Given the description of an element on the screen output the (x, y) to click on. 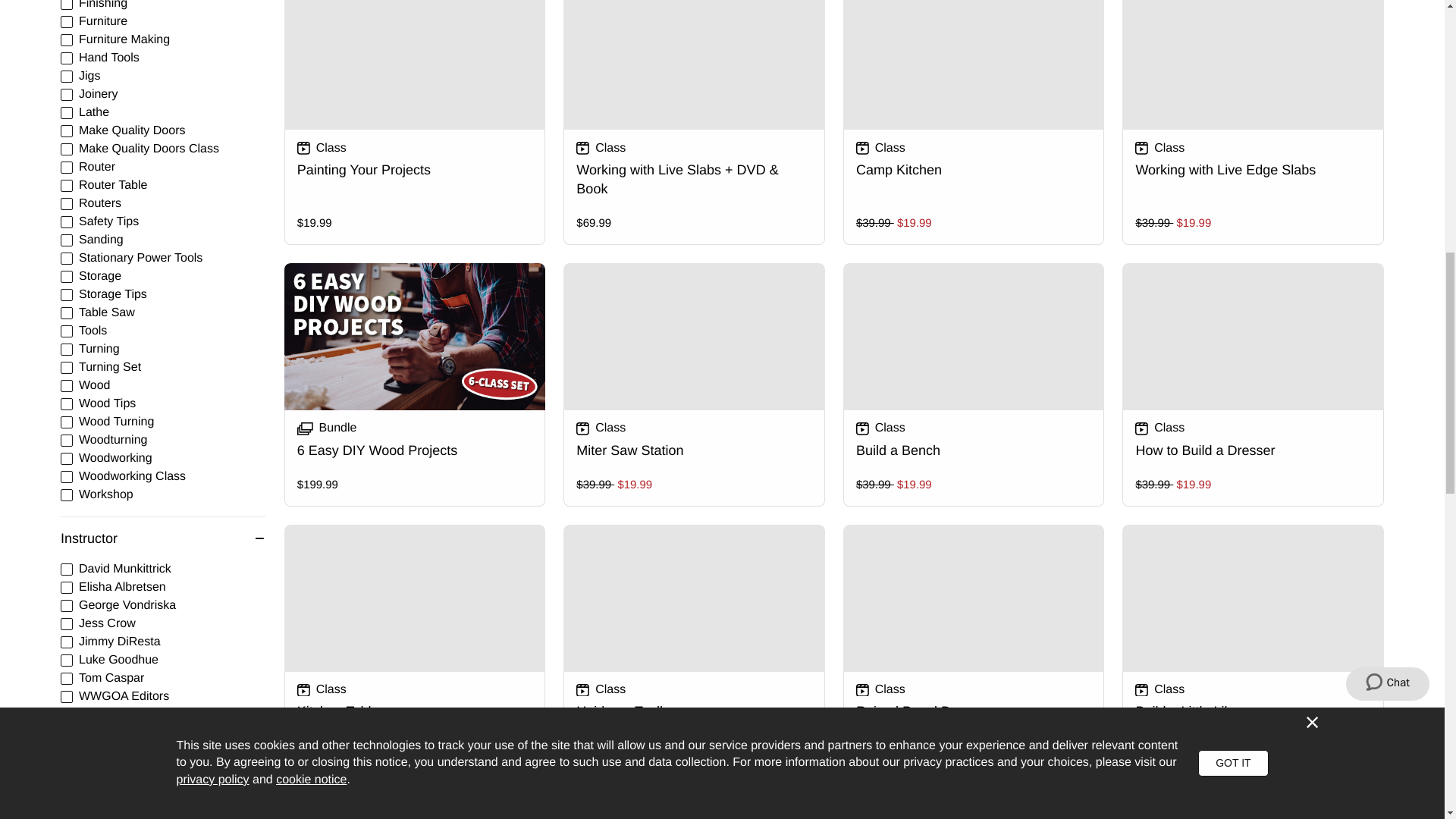
tag:joinery (66, 94)
6 Easy DIY Wood Projects (414, 384)
tag:furniture-making (66, 39)
Kitchen Table (414, 645)
How to Build a Dresser (1253, 384)
Working with Live Edge Slabs (1253, 122)
Painting Your Projects (414, 122)
tag:furniture (66, 21)
Miter Saw Station (694, 384)
Camp Kitchen (974, 122)
